Given the description of an element on the screen output the (x, y) to click on. 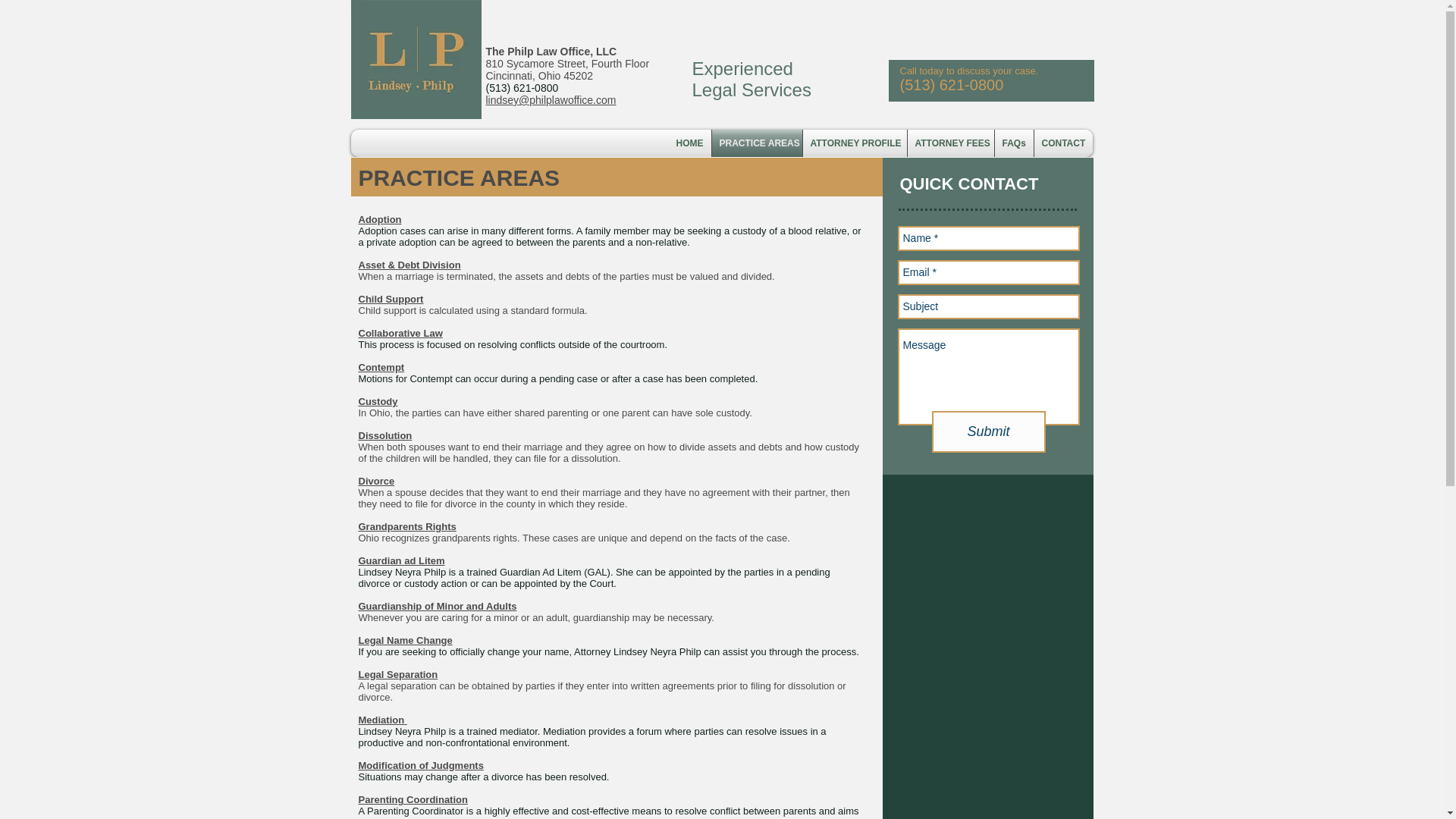
Custody (377, 401)
Dissolution (385, 435)
Collaborative Law (400, 333)
CONTACT (1063, 143)
ATTORNEY FEES (949, 143)
Divorce (376, 480)
ATTORNEY PROFILE (853, 143)
Adoption (379, 219)
HOME (688, 143)
Contempt (381, 367)
